Given the description of an element on the screen output the (x, y) to click on. 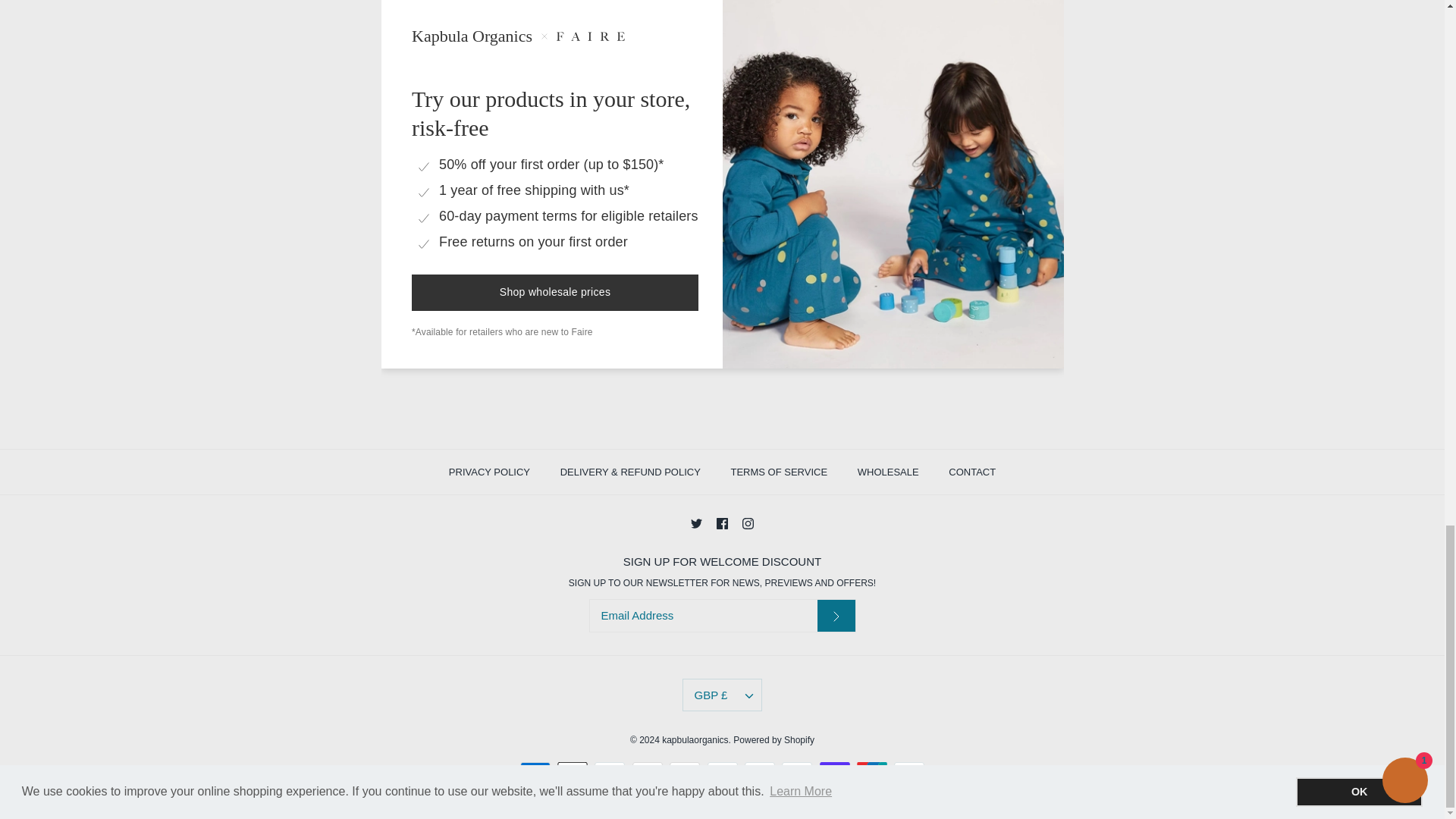
Apple Pay (572, 771)
Instagram (748, 523)
Facebook (722, 523)
Diners Club (609, 771)
Twitter (695, 523)
American Express (534, 771)
